Given the description of an element on the screen output the (x, y) to click on. 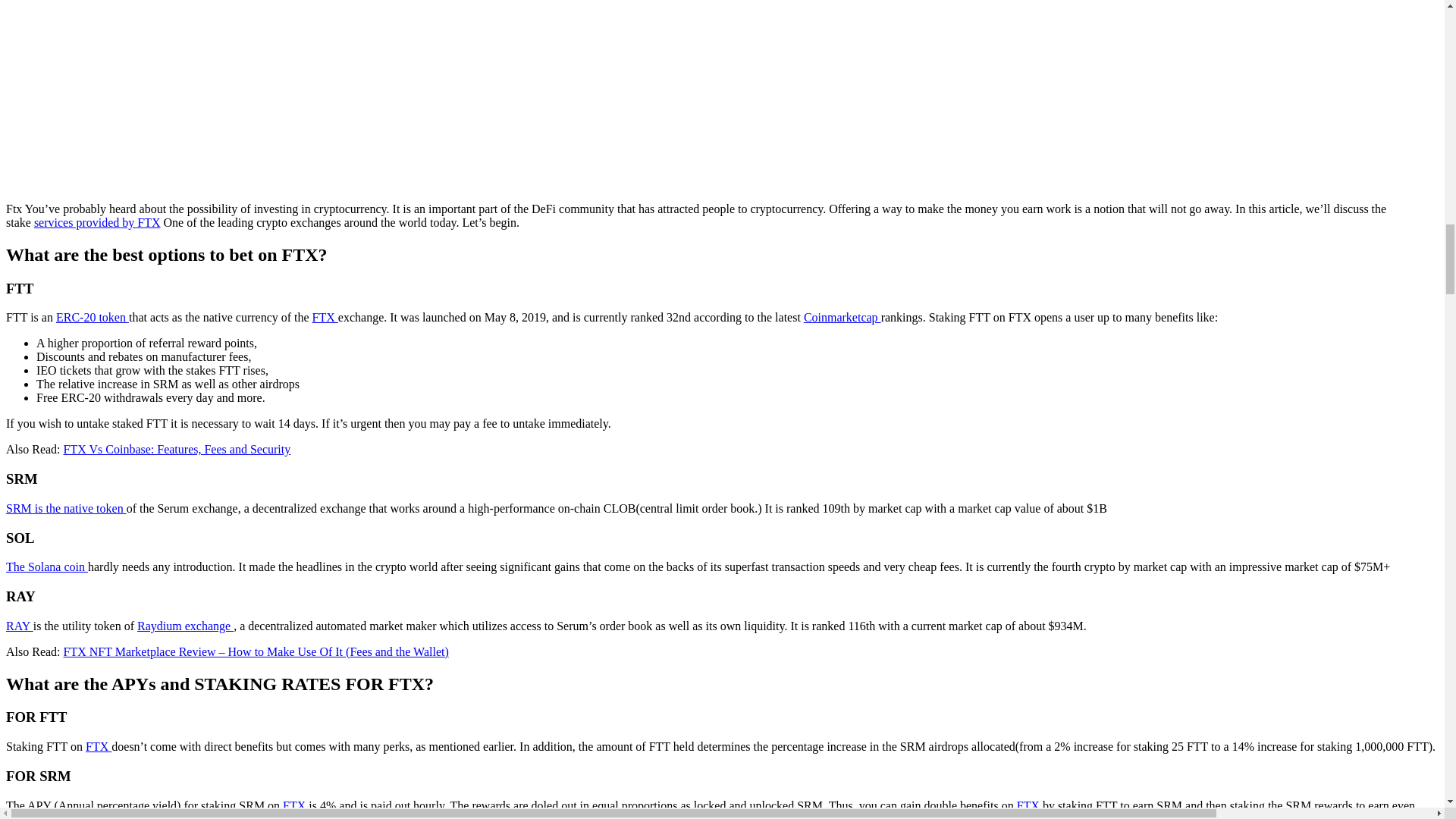
FTX (98, 746)
FTX  (1029, 805)
FTX (295, 805)
FTX  (98, 746)
Raydium exchange  (184, 625)
services provided by FTX (96, 222)
FTX Vs Coinbase: Features, Fees and Security (177, 449)
FTX (1029, 805)
SRM is the native token  (65, 508)
RAY  (19, 625)
FTX  (325, 317)
FTX (325, 317)
ERC-20 token  (92, 317)
The Solana coin  (46, 566)
FTX  (295, 805)
